Given the description of an element on the screen output the (x, y) to click on. 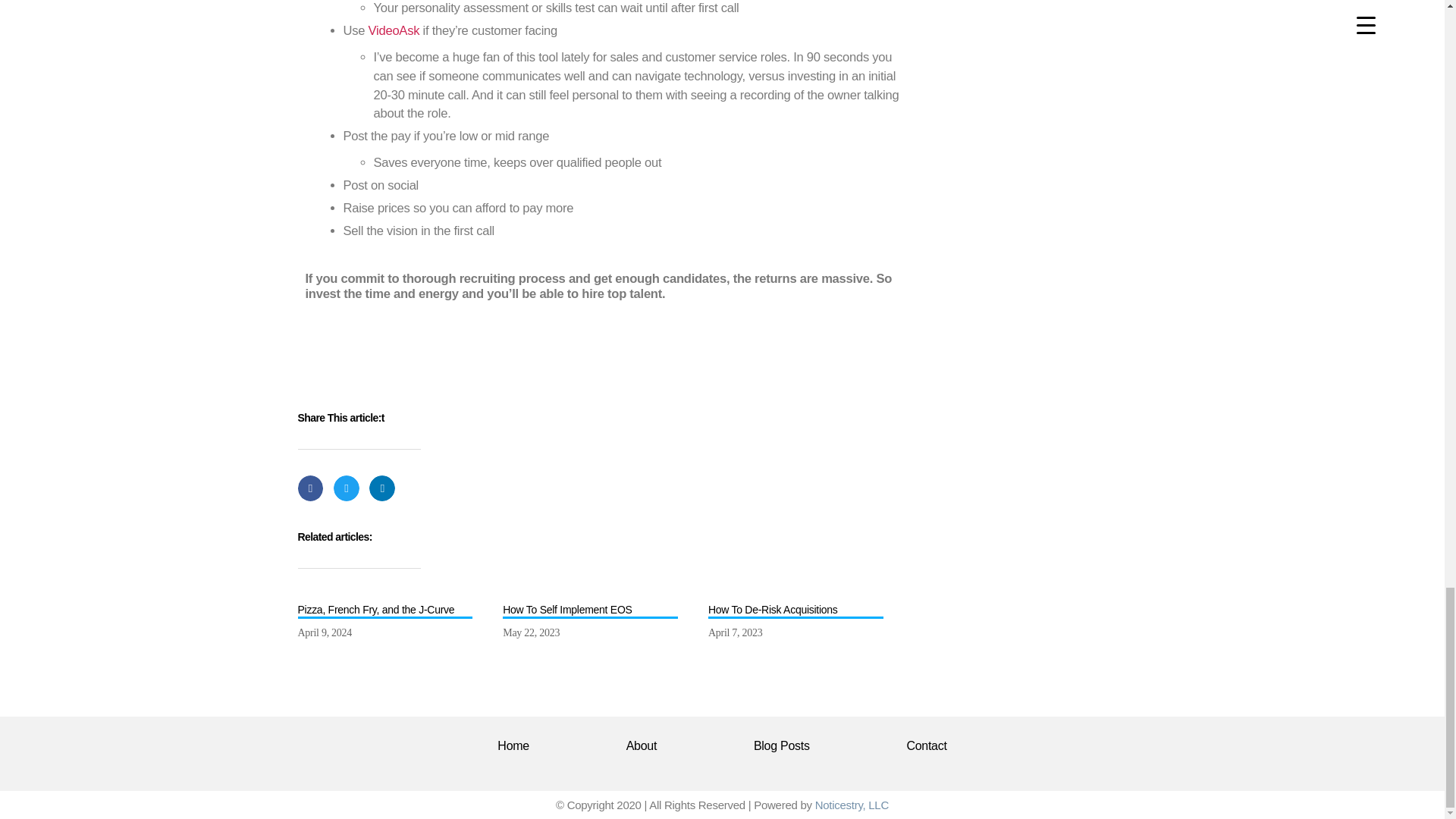
Noticestry, LLC (851, 804)
Home (512, 745)
Blog Posts (781, 745)
Pizza, French Fry, and the J-Curve (384, 610)
How To Self Implement EOS (590, 610)
Contact (927, 745)
VideoAsk (394, 30)
About (641, 745)
How To De-Risk Acquisitions (795, 610)
